Given the description of an element on the screen output the (x, y) to click on. 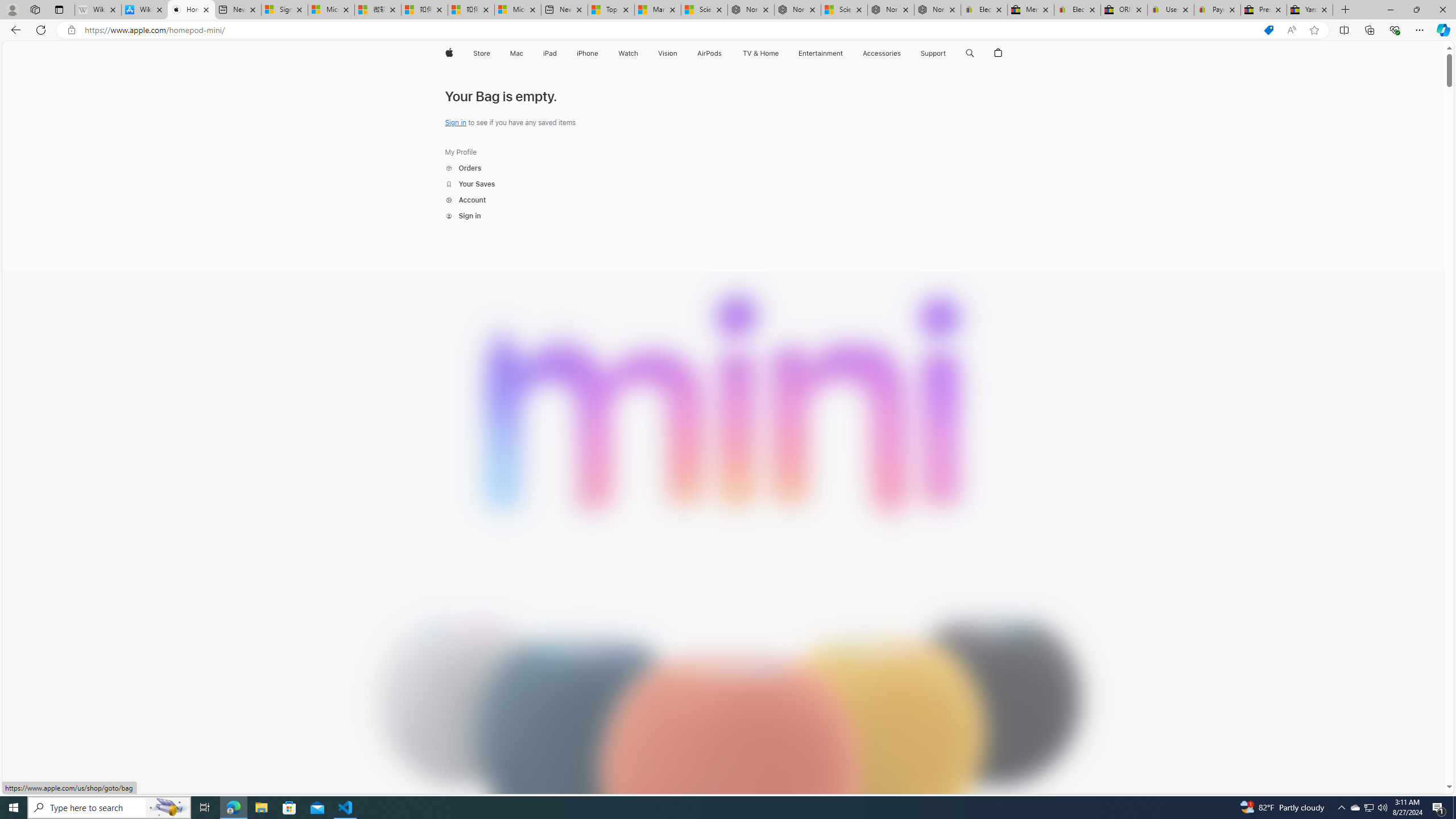
AirPods (709, 53)
Search apple.com (969, 53)
Apple (448, 53)
iPhone (587, 53)
Shopping Bag (998, 53)
